Given the description of an element on the screen output the (x, y) to click on. 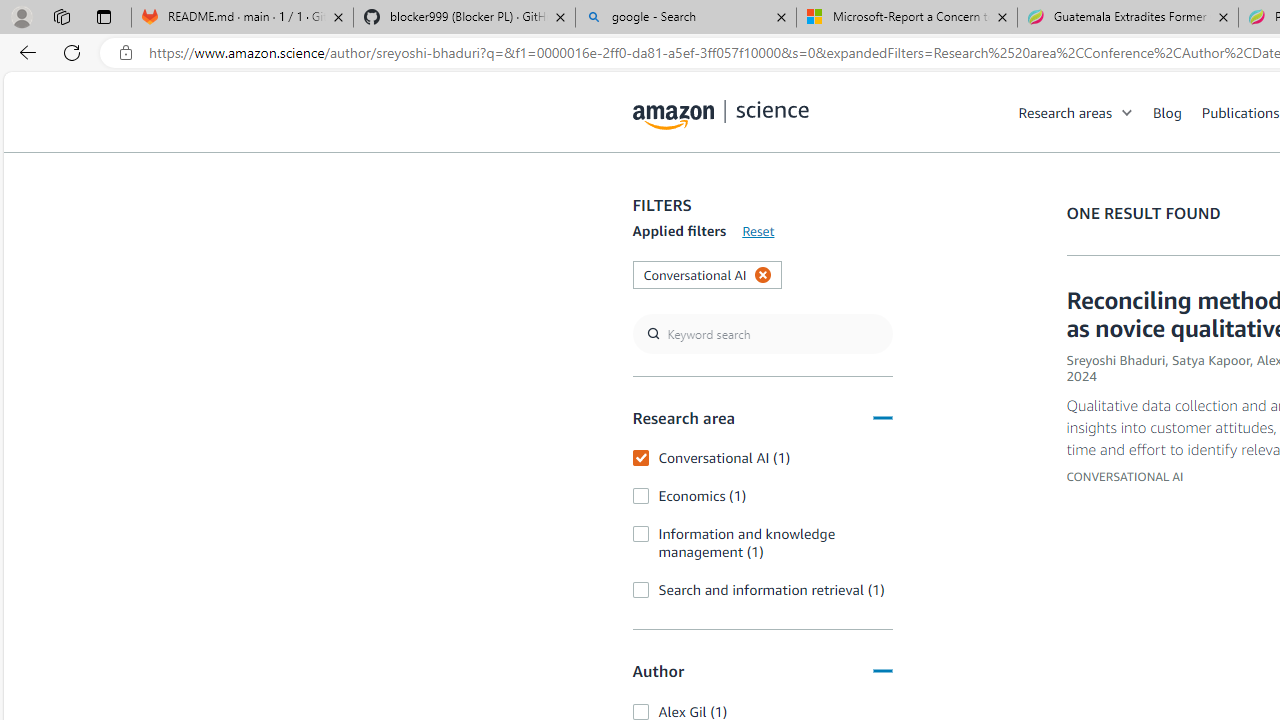
Sreyoshi Bhaduri (1116, 360)
Research areas (1065, 111)
Satya Kapoor (1210, 360)
CONVERSATIONAL AI (1125, 476)
Class: icon-magnify (654, 192)
Class: chevron (1128, 116)
Open Sub Navigation (1128, 111)
Research areas (1085, 111)
